Given the description of an element on the screen output the (x, y) to click on. 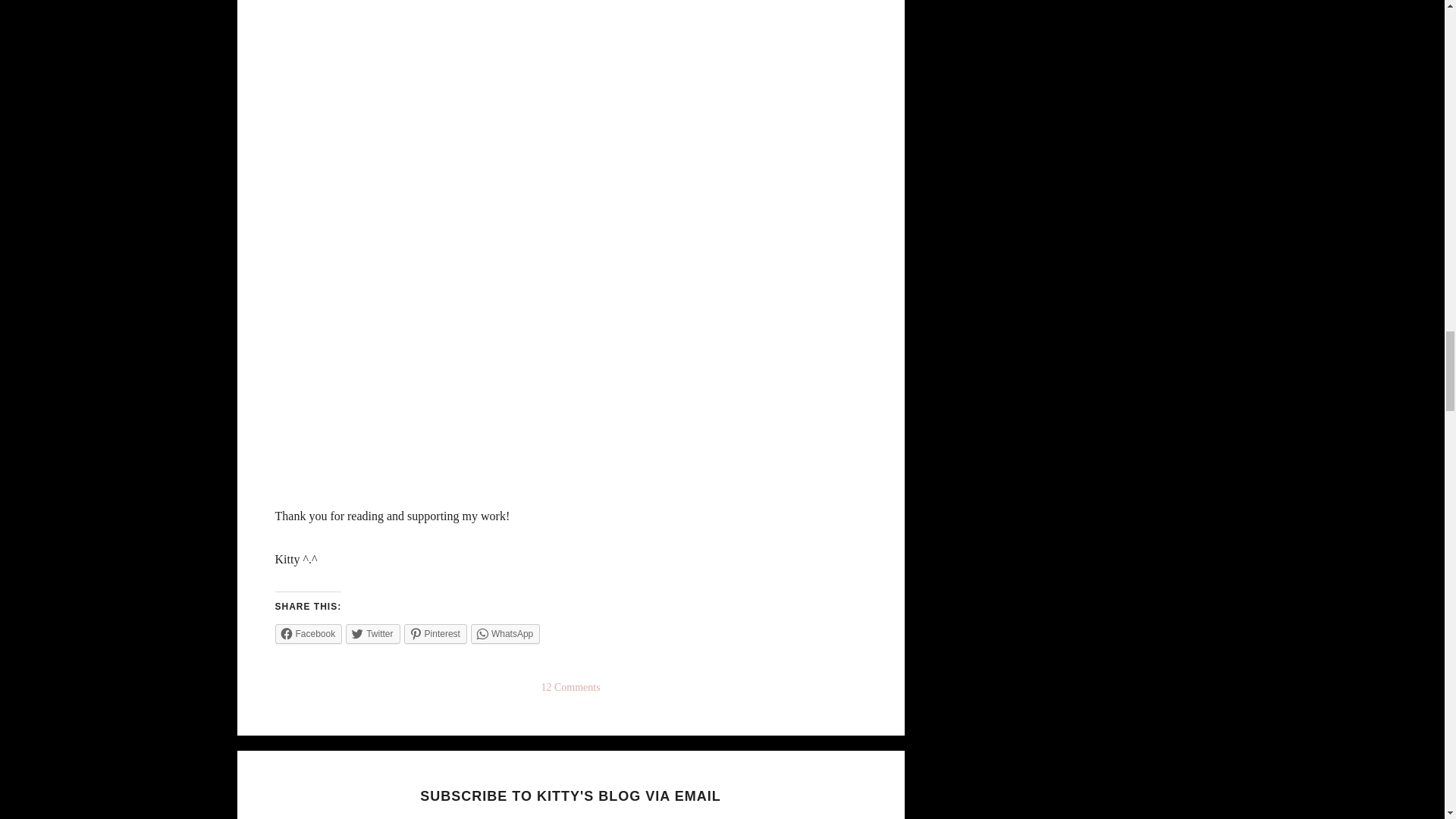
Click to share on Pinterest (435, 633)
Click to share on Facebook (308, 633)
Click to share on WhatsApp (505, 633)
Click to share on Twitter (372, 633)
